Given the description of an element on the screen output the (x, y) to click on. 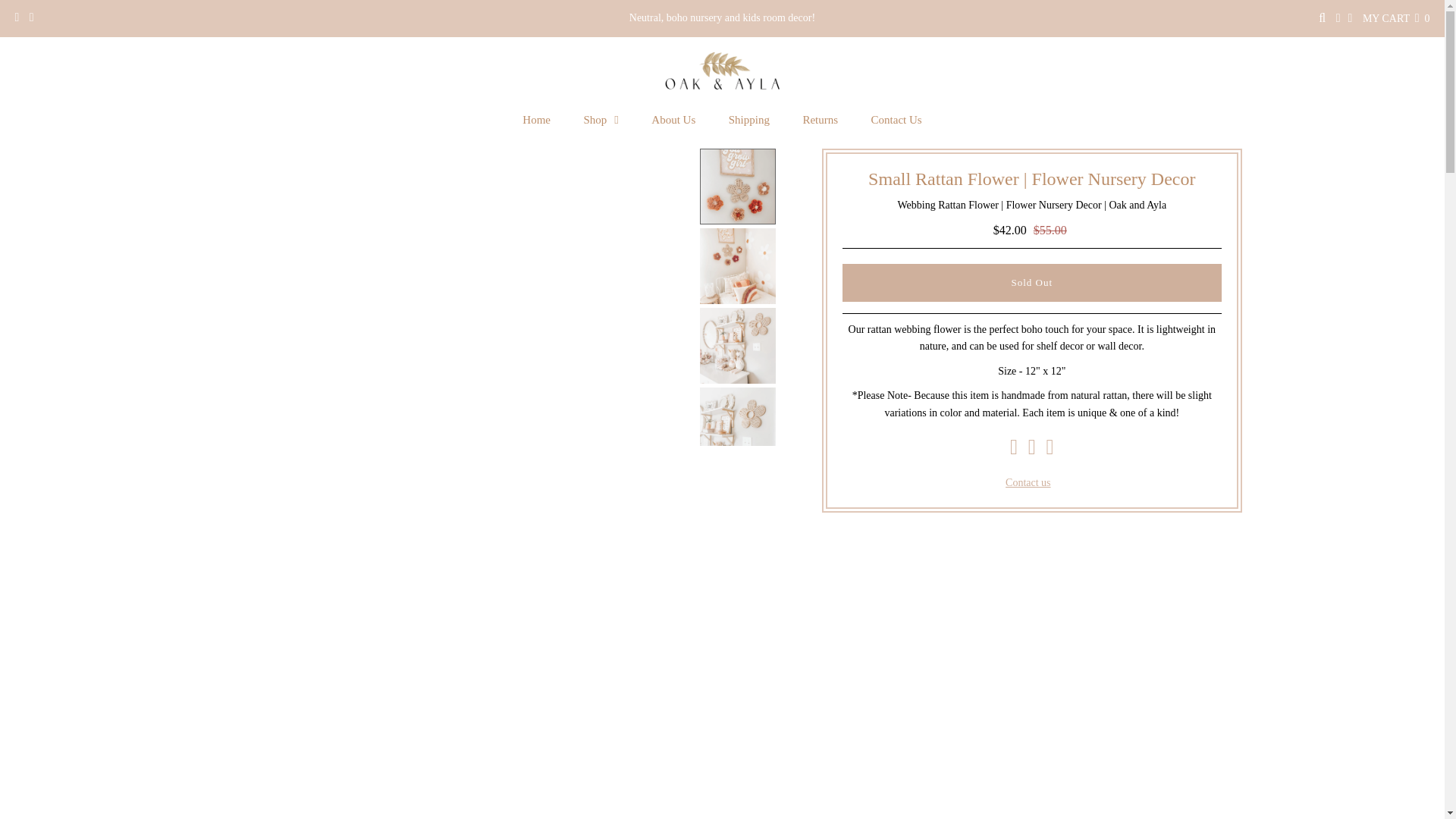
Contact Us (896, 120)
Contact us (1028, 482)
Shipping (748, 120)
Returns (820, 120)
Sold Out (1032, 282)
MY CART    0 (1395, 18)
Home (536, 120)
Shop (600, 120)
Sold Out (1032, 282)
About Us (673, 120)
